Given the description of an element on the screen output the (x, y) to click on. 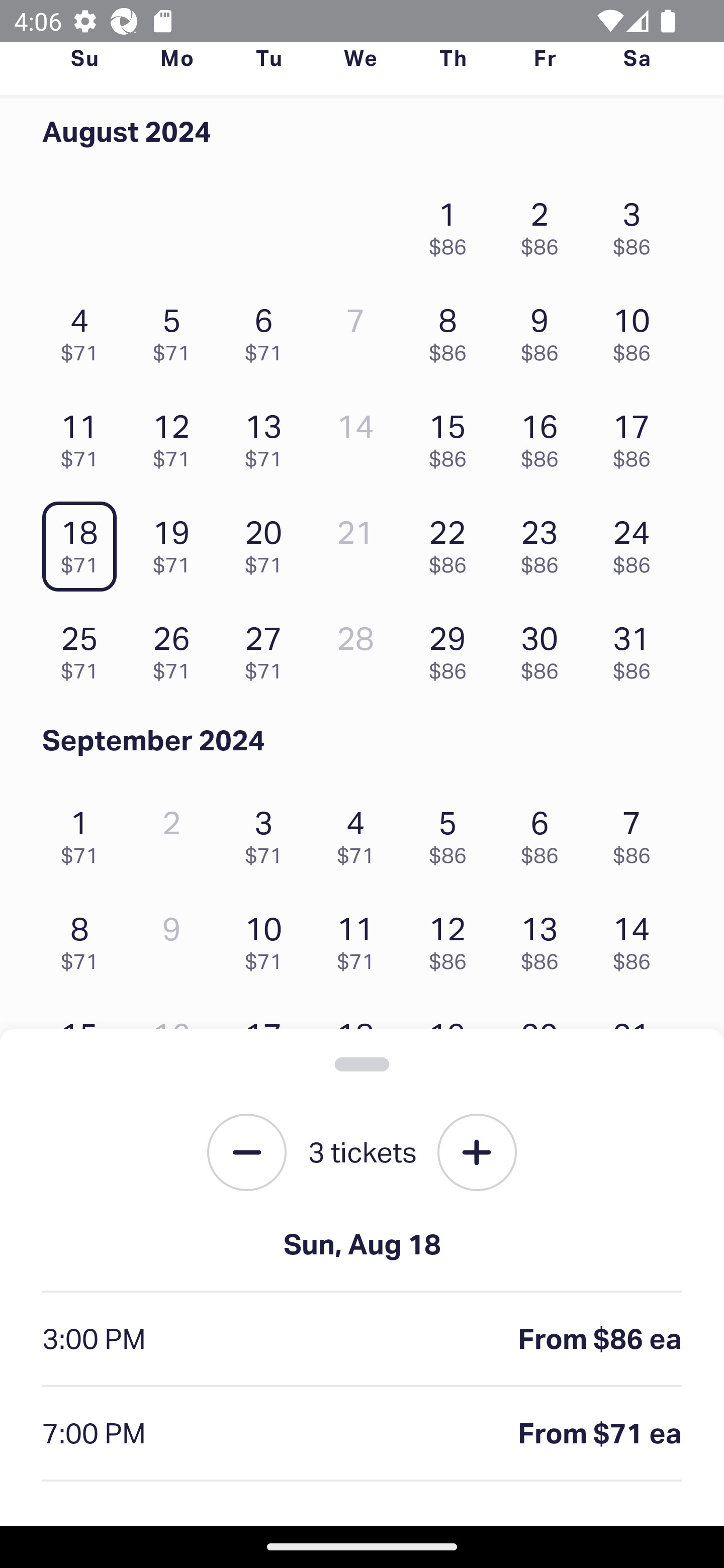
1 $86 (452, 223)
2 $86 (544, 223)
3 $86 (636, 223)
4 $71 (84, 329)
5 $71 (176, 329)
6 $71 (268, 329)
8 $86 (452, 329)
9 $86 (544, 329)
10 $86 (636, 329)
11 $71 (84, 435)
12 $71 (176, 435)
13 $71 (268, 435)
15 $86 (452, 435)
16 $86 (544, 435)
17 $86 (636, 435)
18 $71 (84, 541)
19 $71 (176, 541)
20 $71 (268, 541)
22 $86 (452, 541)
23 $86 (544, 541)
24 $86 (636, 541)
25 $71 (84, 647)
26 $71 (176, 647)
27 $71 (268, 647)
29 $86 (452, 647)
30 $86 (544, 647)
31 $86 (636, 647)
1 $71 (84, 831)
3 $71 (268, 831)
4 $71 (360, 831)
5 $86 (452, 831)
6 $86 (544, 831)
7 $86 (636, 831)
8 $71 (84, 938)
10 $71 (268, 938)
11 $71 (360, 938)
12 $86 (452, 938)
13 $86 (544, 938)
14 $86 (636, 938)
3:00 PM From $86 ea (361, 1339)
7:00 PM From $71 ea (361, 1434)
